Given the description of an element on the screen output the (x, y) to click on. 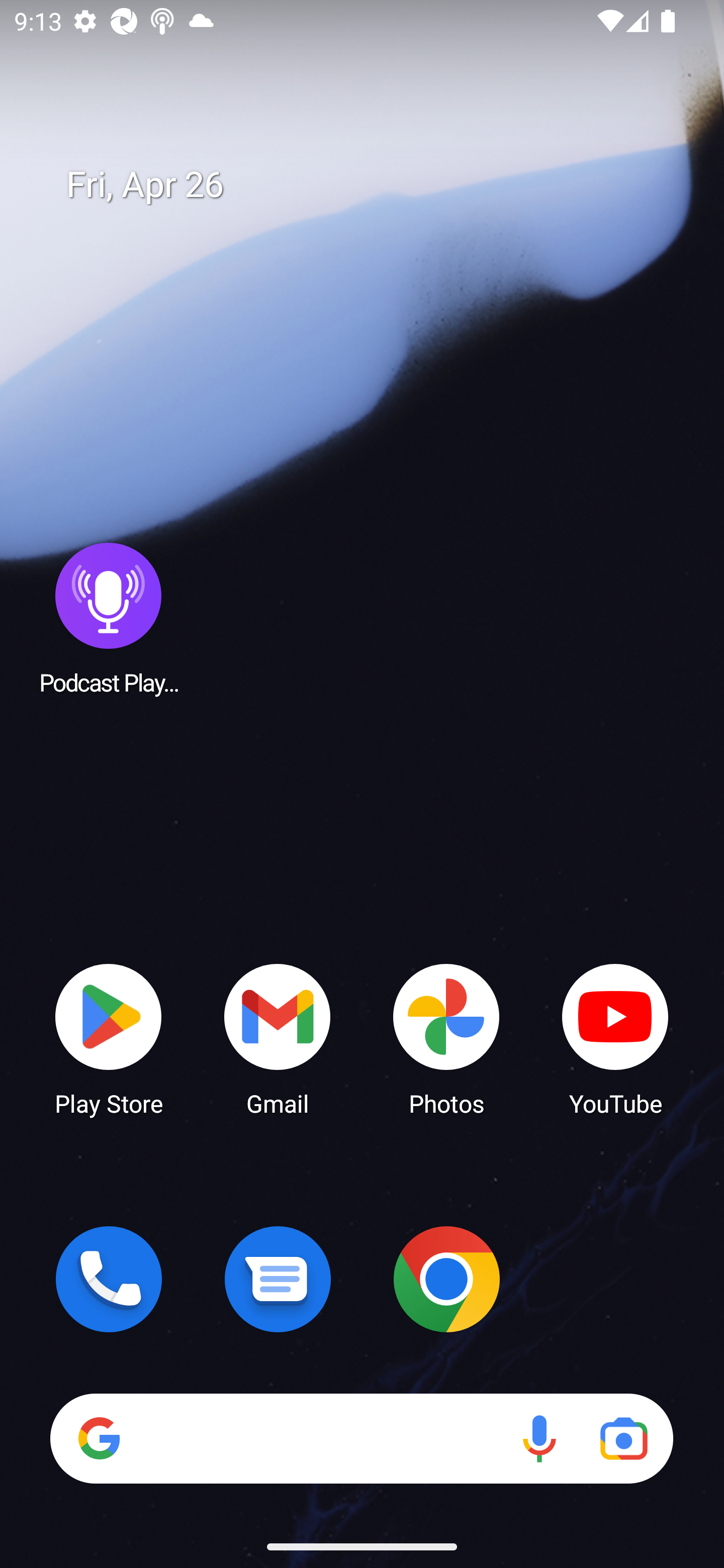
Fri, Apr 26 (375, 184)
Podcast Player (108, 617)
Play Store (108, 1038)
Gmail (277, 1038)
Photos (445, 1038)
YouTube (615, 1038)
Phone (108, 1279)
Messages (277, 1279)
Chrome (446, 1279)
Search Voice search Google Lens (361, 1438)
Voice search (539, 1438)
Google Lens (623, 1438)
